Given the description of an element on the screen output the (x, y) to click on. 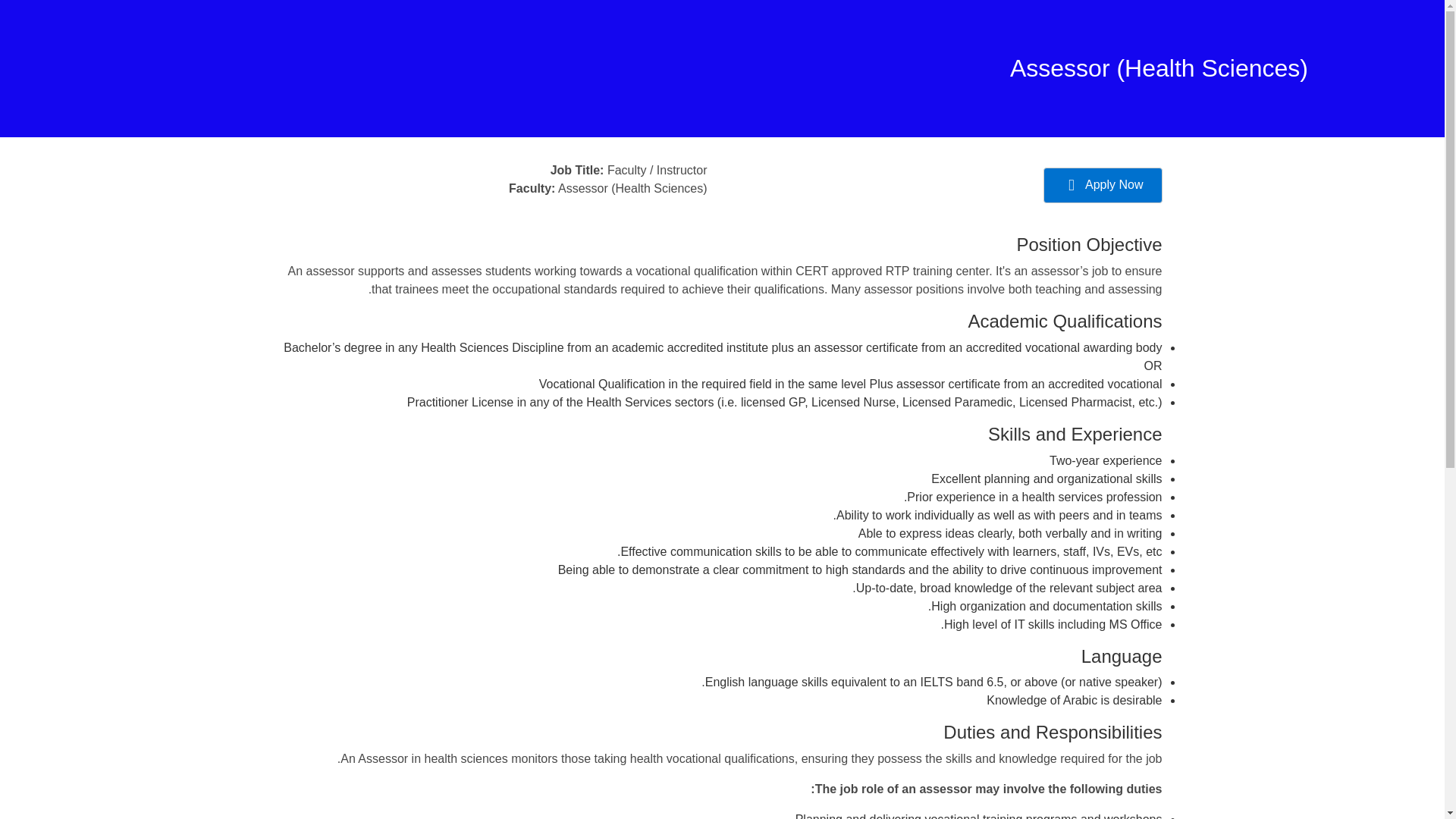
A- (467, 631)
English (623, 717)
A (433, 631)
Register for IELTS (874, 514)
Apply Now (1102, 185)
